Given the description of an element on the screen output the (x, y) to click on. 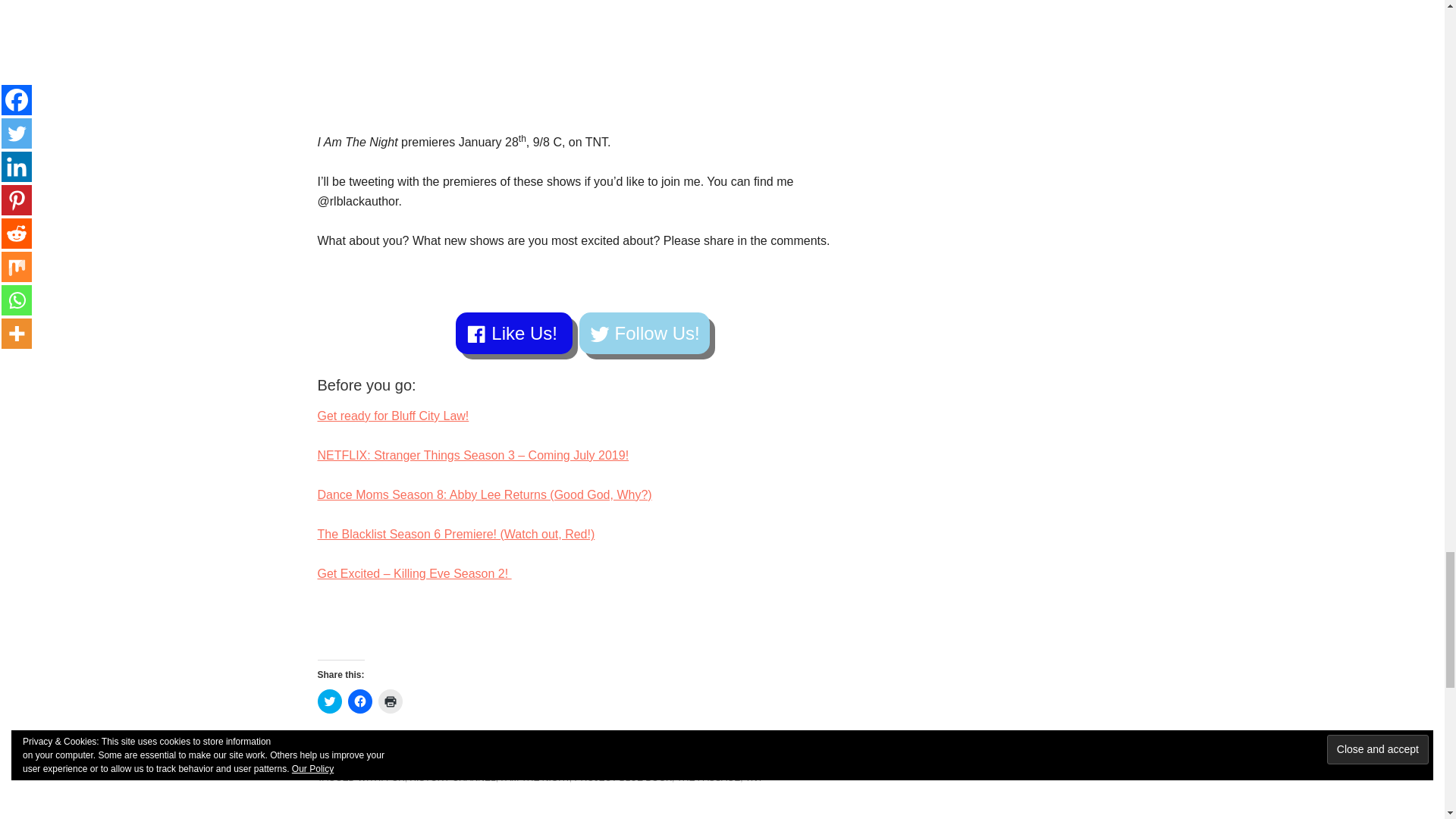
Click to share on Twitter (328, 701)
Tweet (459, 753)
Like Us!  (513, 332)
Click to print (389, 701)
Get ready for Bluff City Law! (392, 415)
Click to share on Facebook (359, 701)
Follow Us! (644, 332)
